Given the description of an element on the screen output the (x, y) to click on. 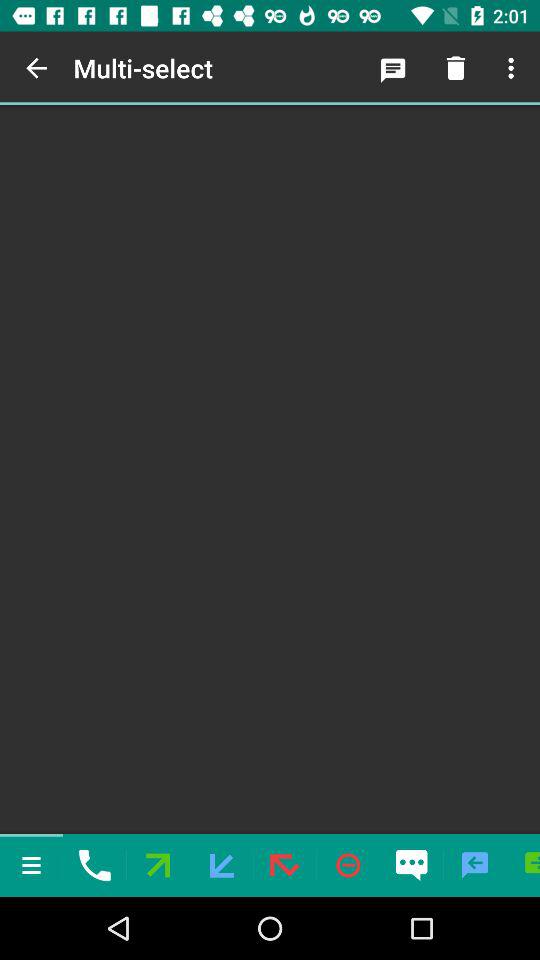
multi select option (270, 469)
